Given the description of an element on the screen output the (x, y) to click on. 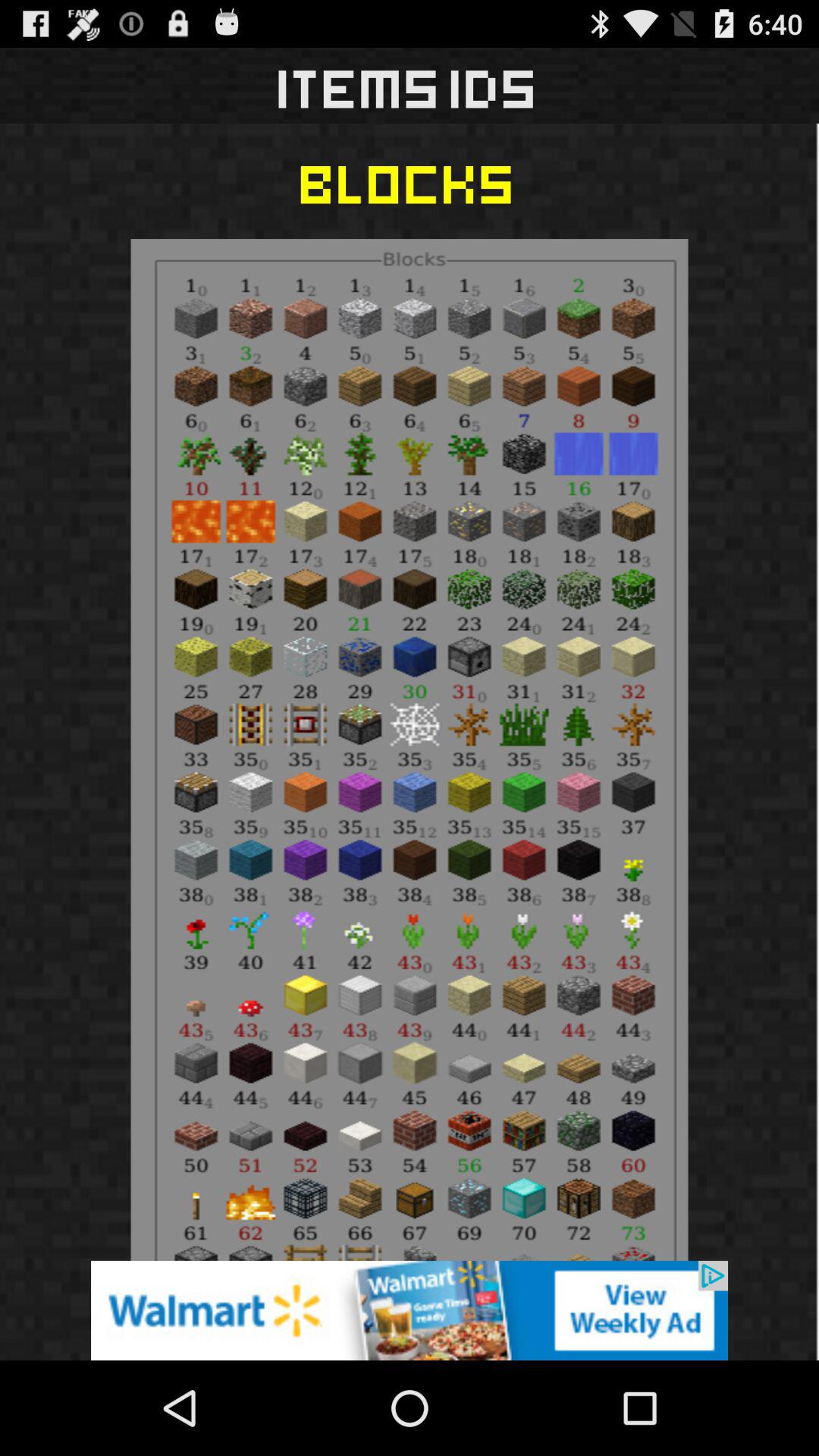
advertisement (409, 1310)
